Given the description of an element on the screen output the (x, y) to click on. 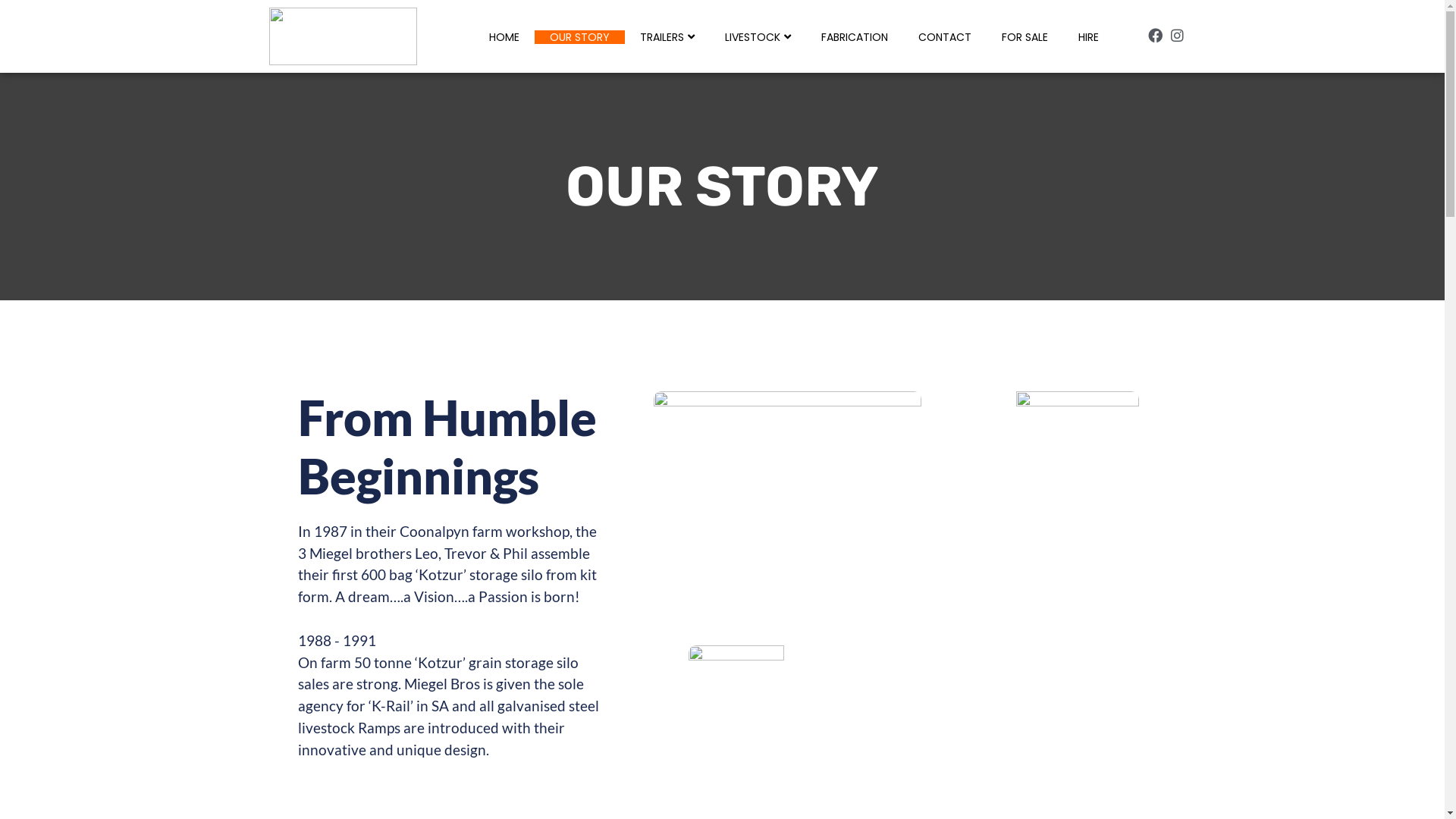
OUR STORY Element type: text (579, 36)
HOME Element type: text (503, 36)
FABRICATION Element type: text (854, 36)
HIRE Element type: text (1088, 36)
TRAILERS Element type: text (666, 36)
CONTACT Element type: text (944, 36)
LIVESTOCK Element type: text (757, 36)
FOR SALE Element type: text (1024, 36)
